Given the description of an element on the screen output the (x, y) to click on. 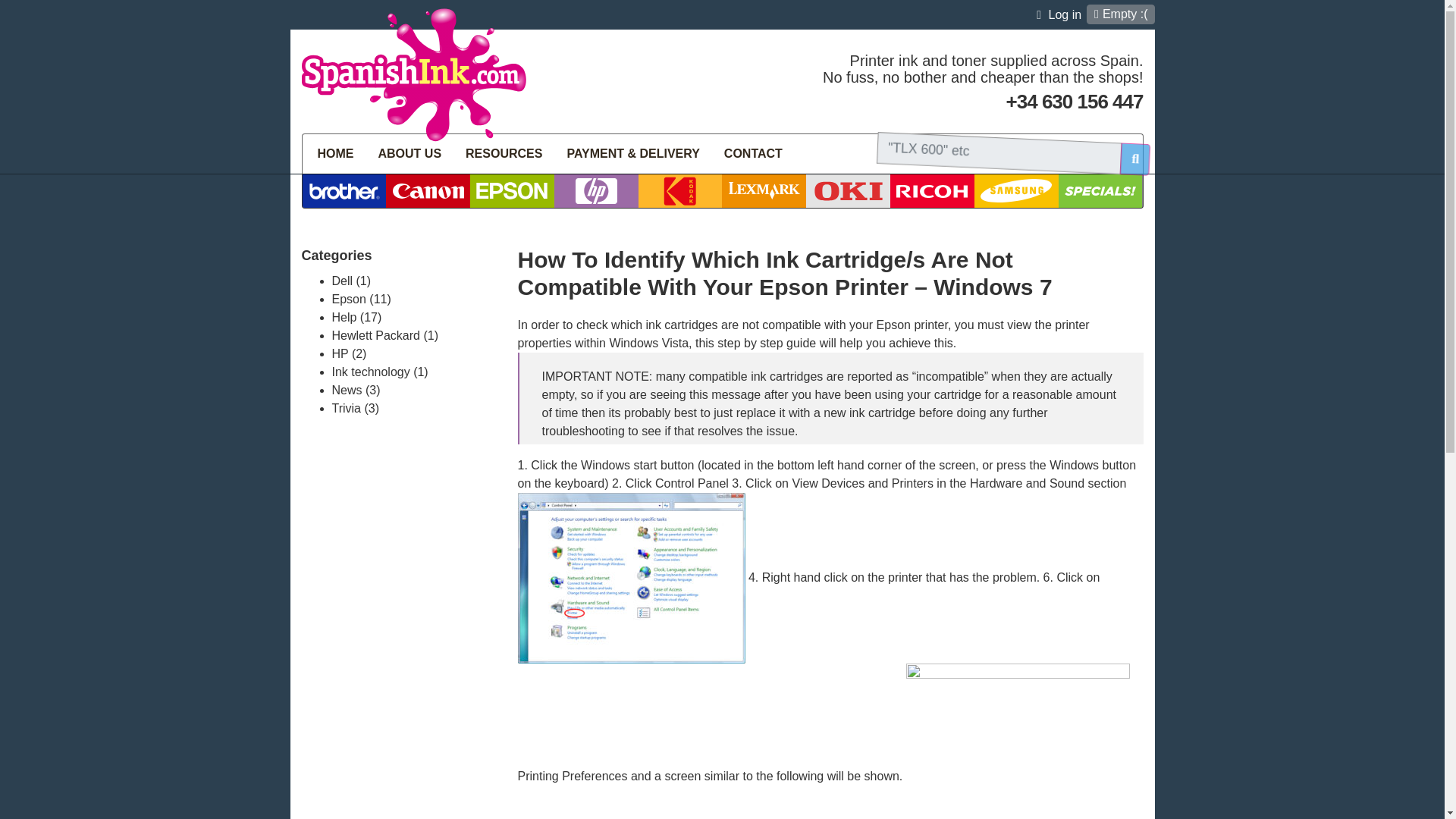
Search (1125, 153)
News (346, 390)
ABOUT US (409, 153)
Windows 7 Control Panel (630, 578)
Dell (342, 280)
Brother (343, 191)
CONTACT (753, 153)
RESOURCES (503, 153)
Epson Printing Preferences (1017, 741)
Specials (1100, 191)
